Given the description of an element on the screen output the (x, y) to click on. 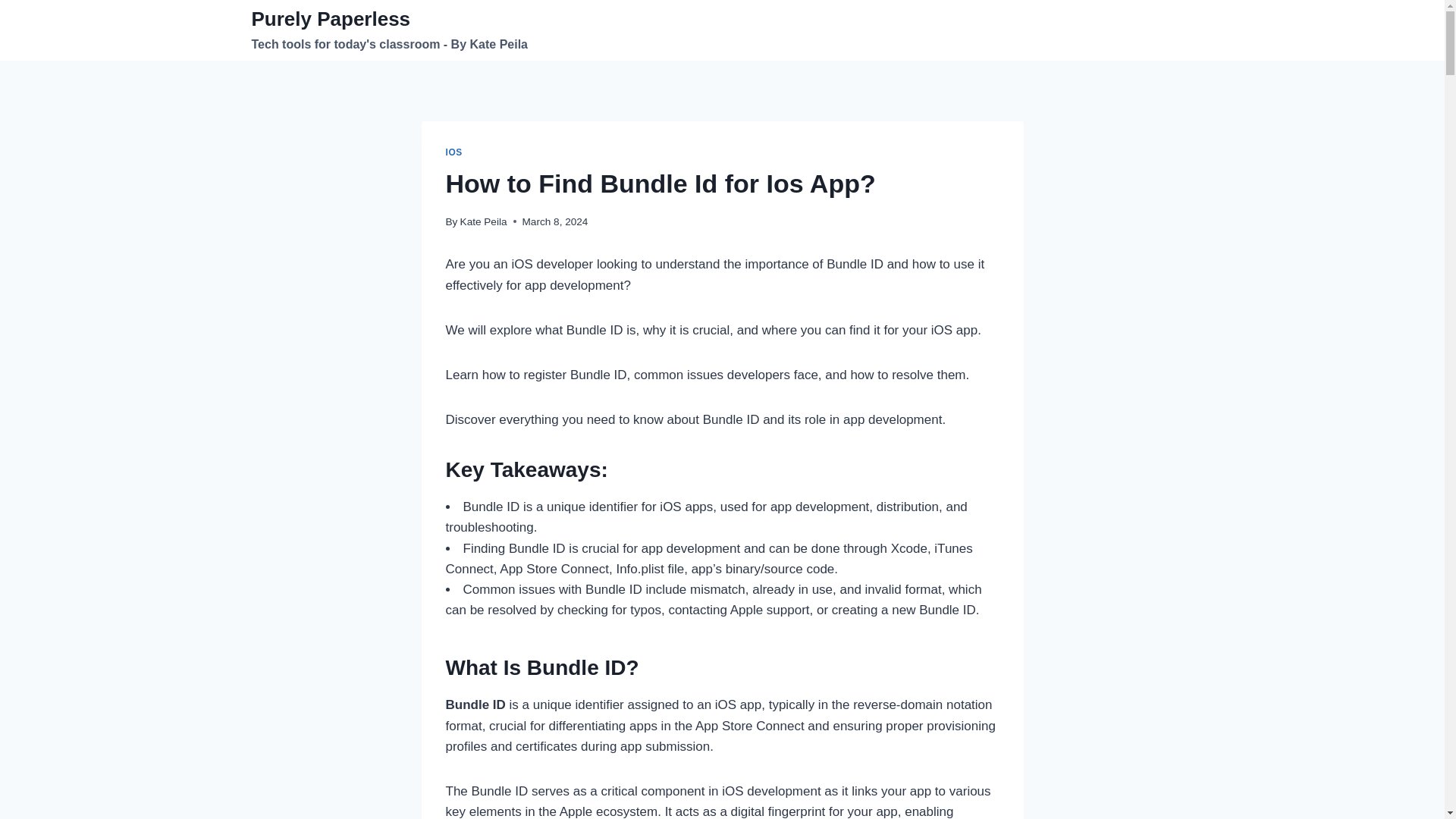
IOS (454, 152)
Kate Peila (483, 221)
